Given the description of an element on the screen output the (x, y) to click on. 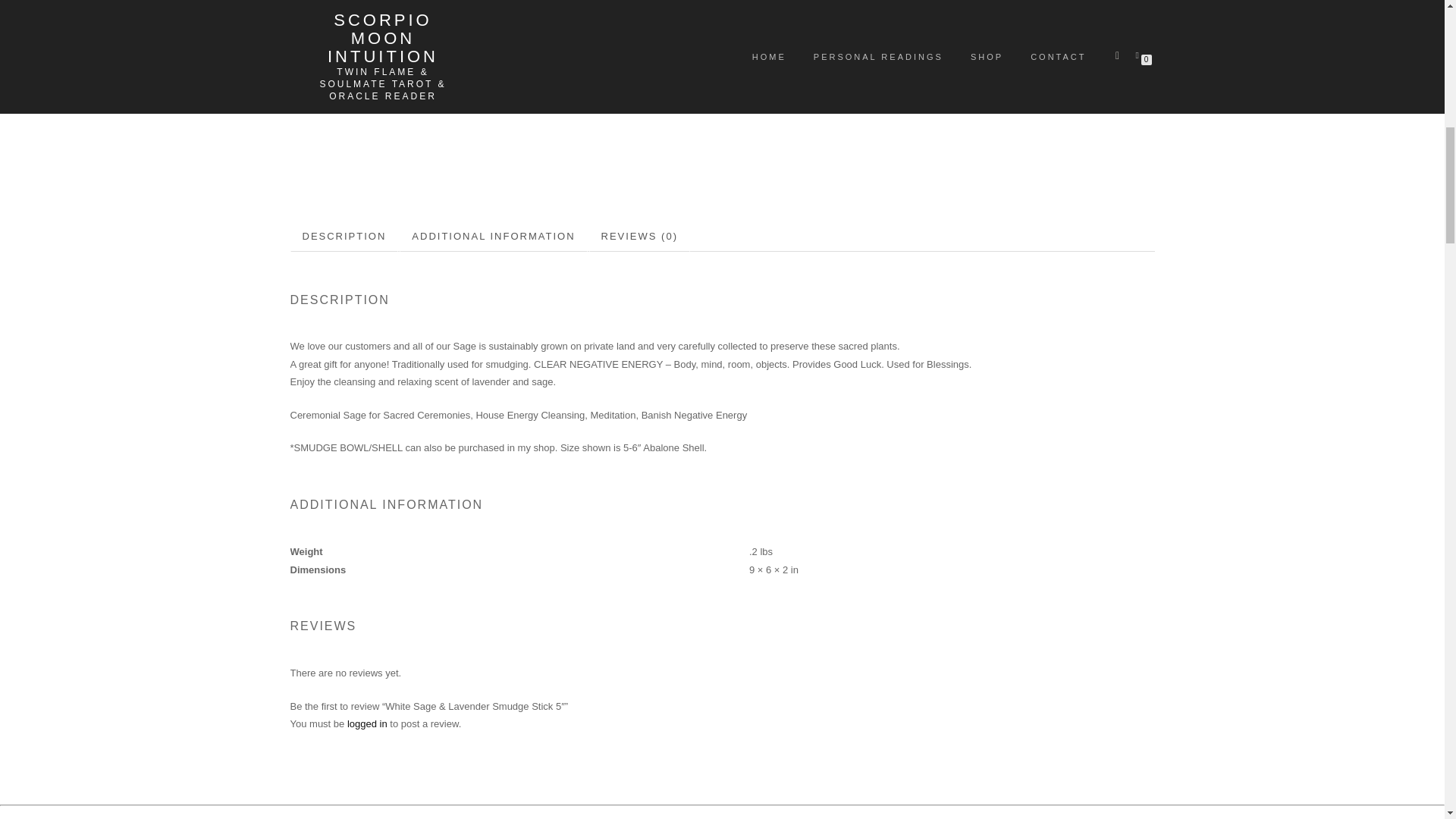
ADDITIONAL INFORMATION (492, 236)
DESCRIPTION (343, 236)
logged in (367, 723)
